Given the description of an element on the screen output the (x, y) to click on. 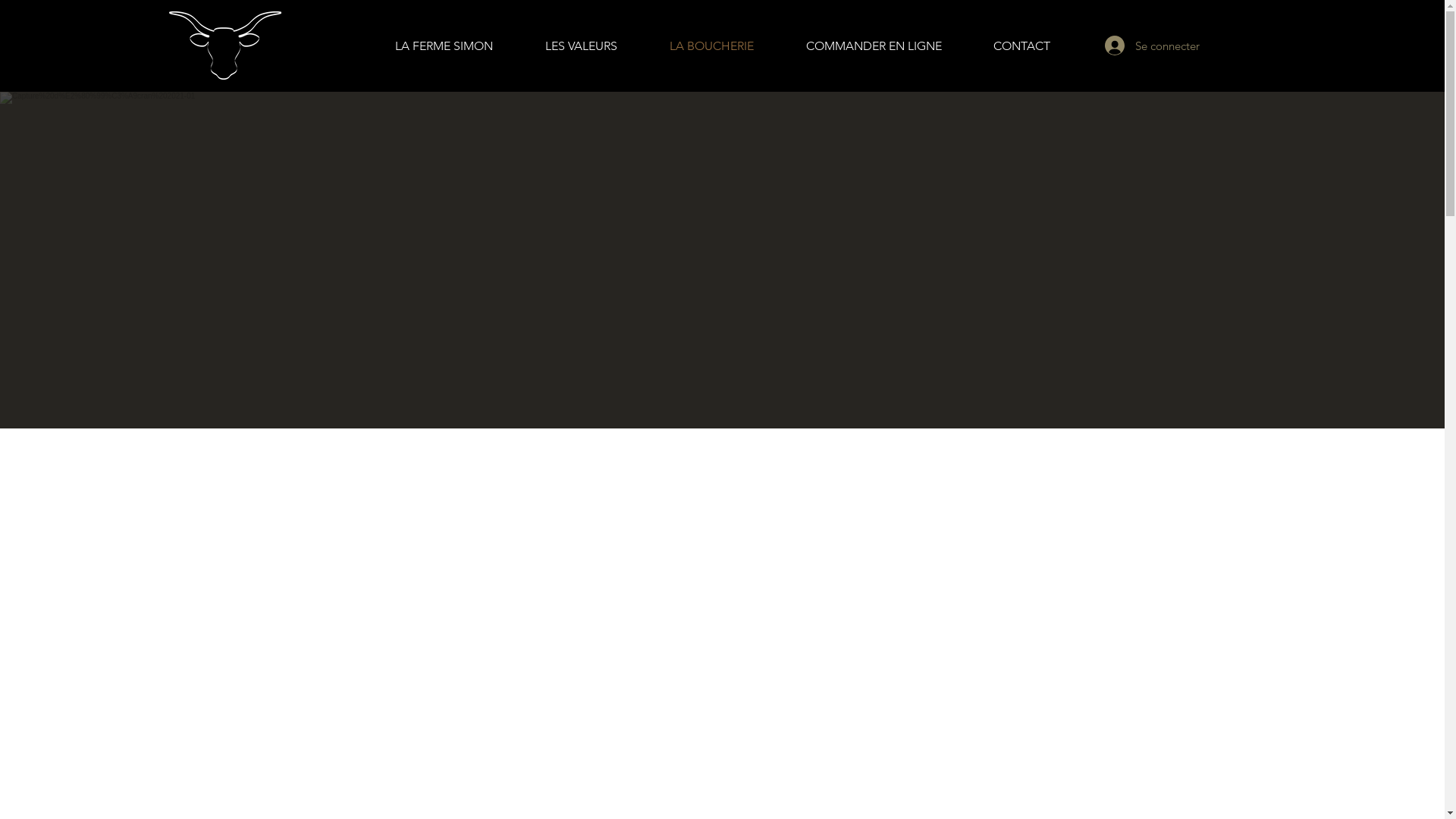
LA BOUCHERIE Element type: text (711, 46)
LES VALEURS Element type: text (580, 46)
LA FERME SIMON Element type: text (443, 46)
COMMANDER EN LIGNE Element type: text (872, 46)
CONTACT Element type: text (1021, 46)
Se connecter Element type: text (1138, 45)
